Given the description of an element on the screen output the (x, y) to click on. 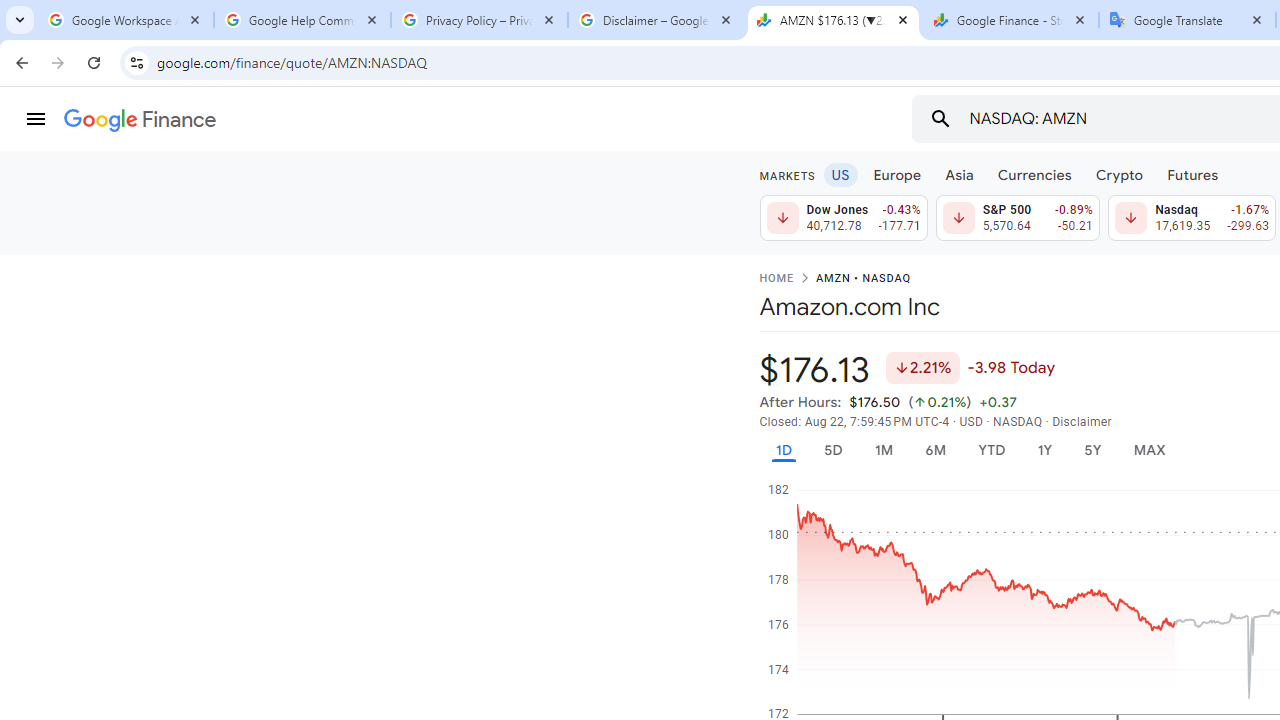
Browse (507, 564)
Documents (866, 224)
This PC (507, 414)
New (104, 208)
Save As (104, 668)
Folders (984, 224)
Get Add-ins (104, 504)
